Given the description of an element on the screen output the (x, y) to click on. 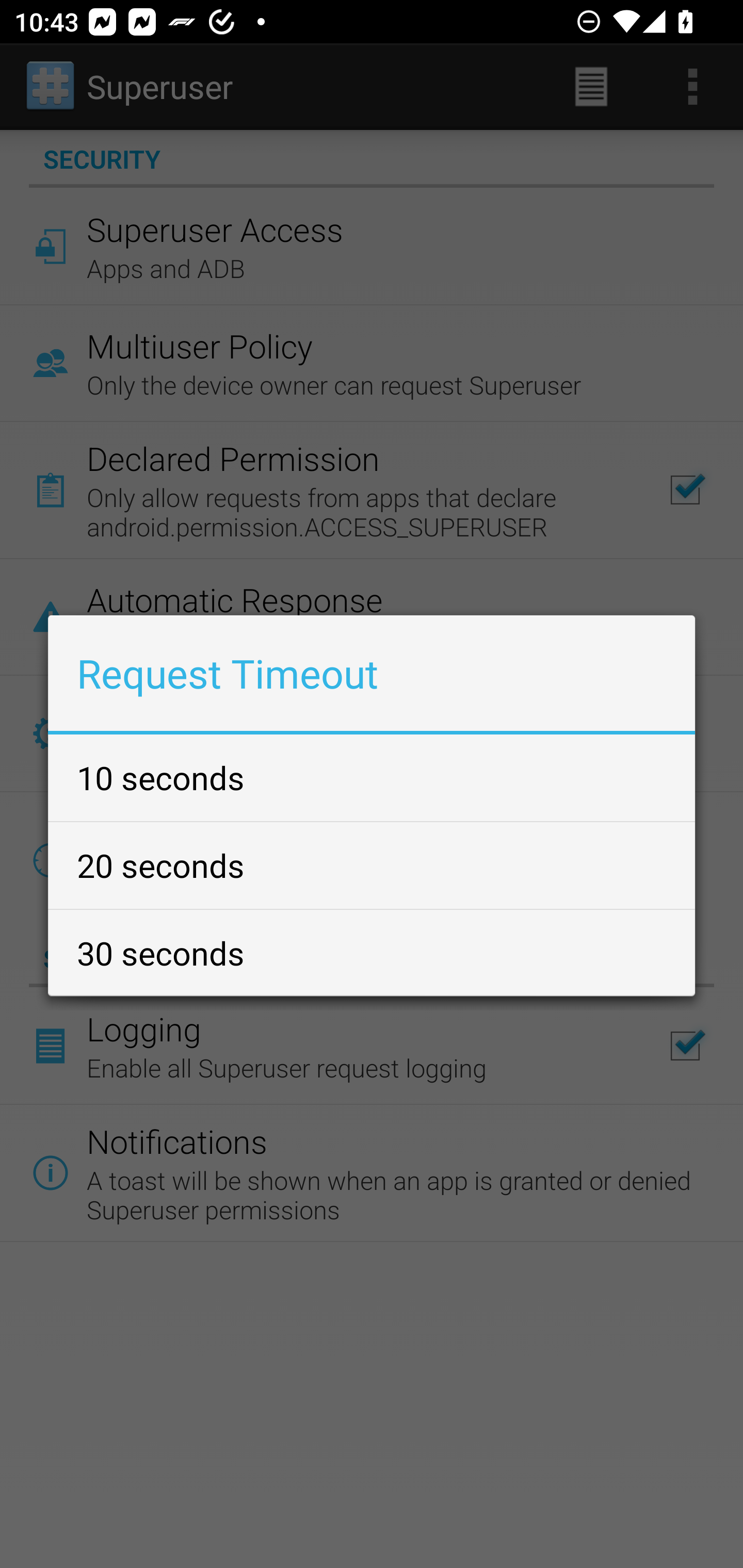
10 seconds (371, 777)
20 seconds (371, 865)
30 seconds (371, 952)
